Given the description of an element on the screen output the (x, y) to click on. 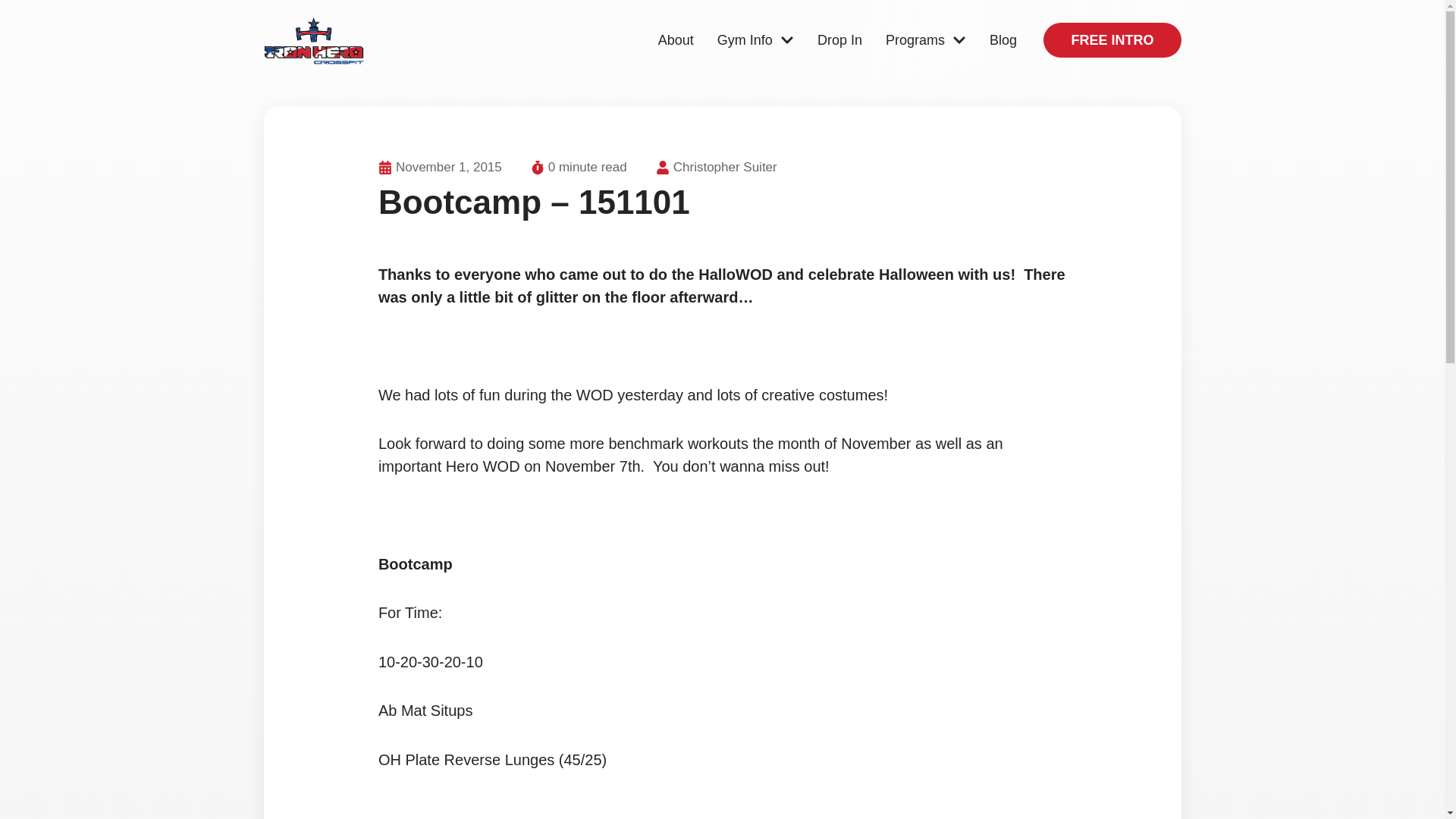
Programs (925, 39)
Blog (1003, 39)
Gym Info (756, 39)
FREE INTRO (1111, 39)
About (675, 39)
Drop In (839, 39)
